Given the description of an element on the screen output the (x, y) to click on. 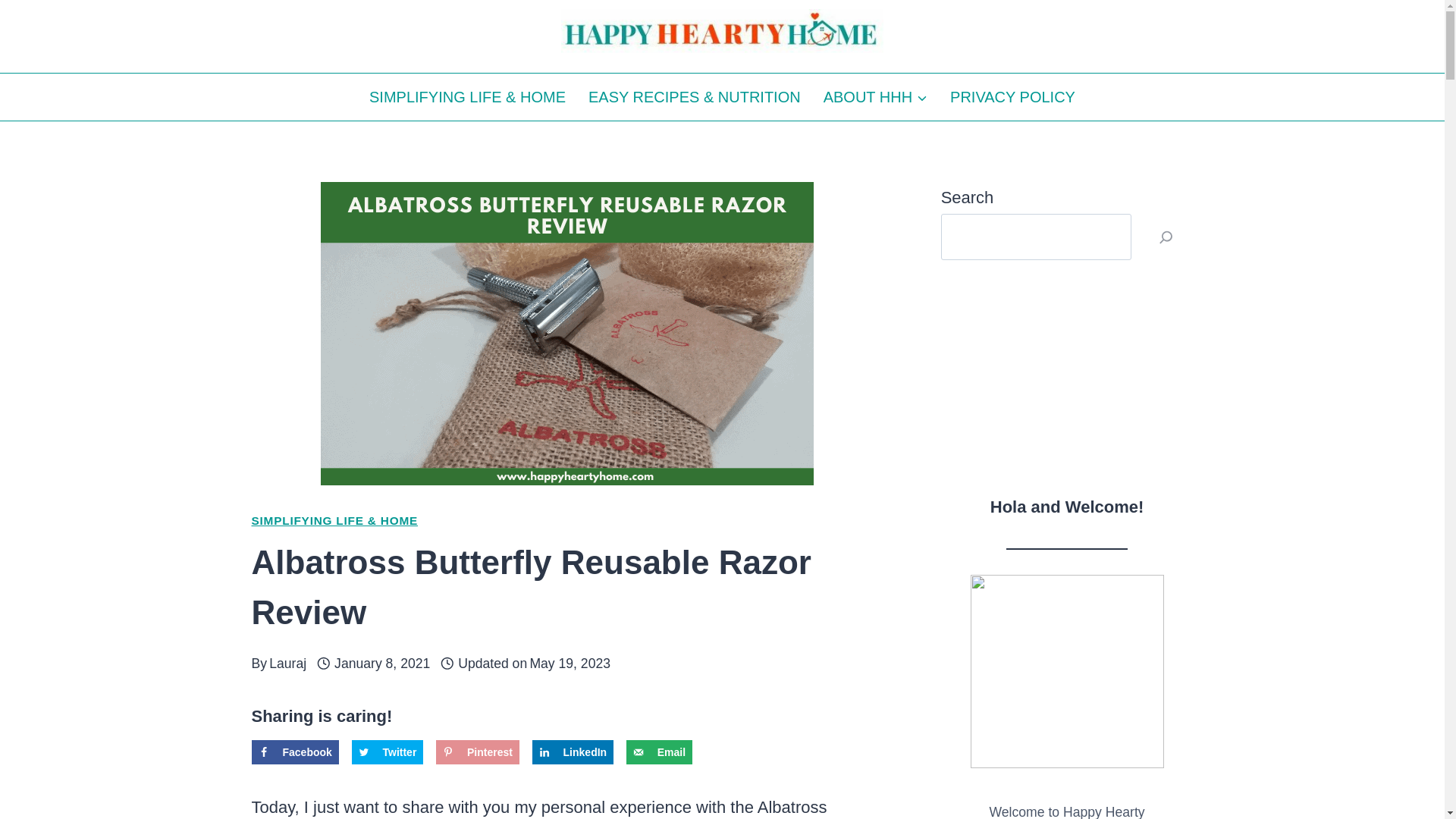
ABOUT HHH (875, 96)
LinkedIn (573, 752)
Share on Twitter (387, 752)
Share on LinkedIn (573, 752)
Share on Facebook (295, 752)
Email (659, 752)
Twitter (387, 752)
Send over email (659, 752)
Facebook (295, 752)
PRIVACY POLICY (1012, 96)
